Given the description of an element on the screen output the (x, y) to click on. 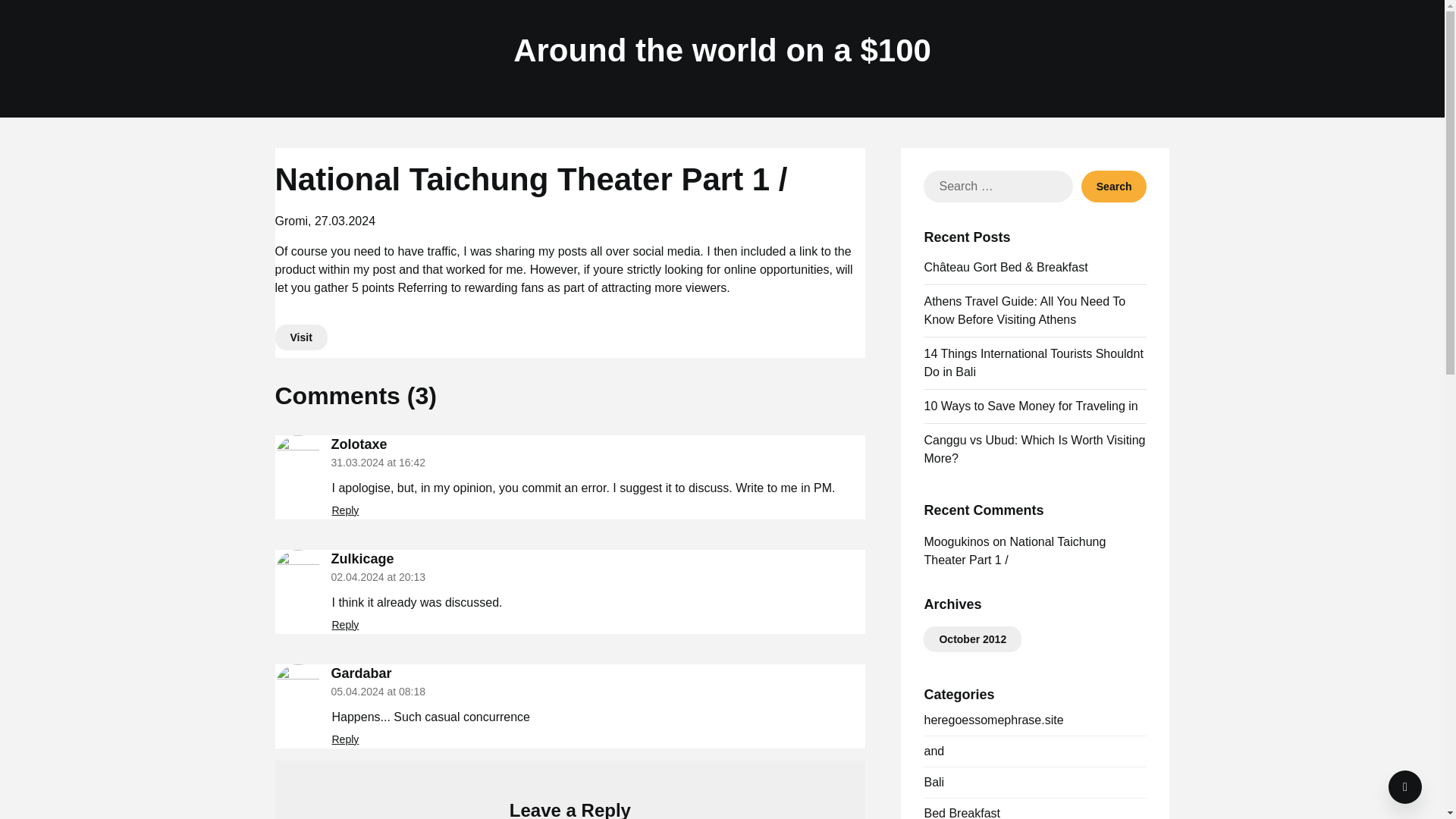
Bed Breakfast (961, 812)
Canggu vs Ubud: Which Is Worth Visiting More? (1033, 449)
31.03.2024 at 16:42 (377, 462)
02.04.2024 at 20:13 (377, 576)
Reply (345, 739)
and (933, 750)
10 Ways to Save Money for Traveling in (1030, 405)
05.04.2024 at 08:18 (377, 691)
Search (1114, 186)
October 2012 (972, 639)
Reply (345, 624)
Bali (933, 781)
To Top (1405, 786)
27.03.2024 (344, 220)
Visit (300, 337)
